Given the description of an element on the screen output the (x, y) to click on. 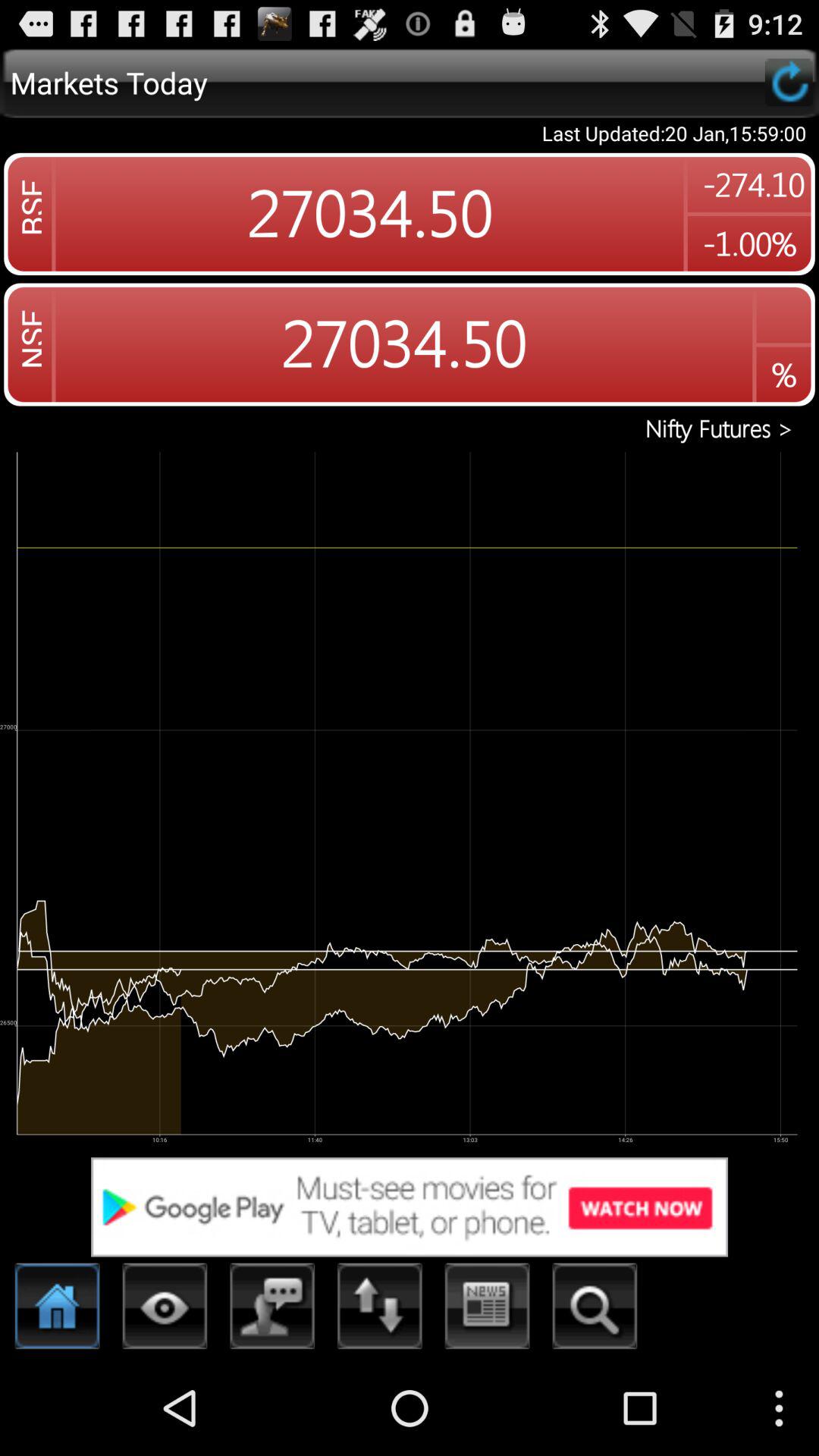
caleanter (487, 1310)
